Given the description of an element on the screen output the (x, y) to click on. 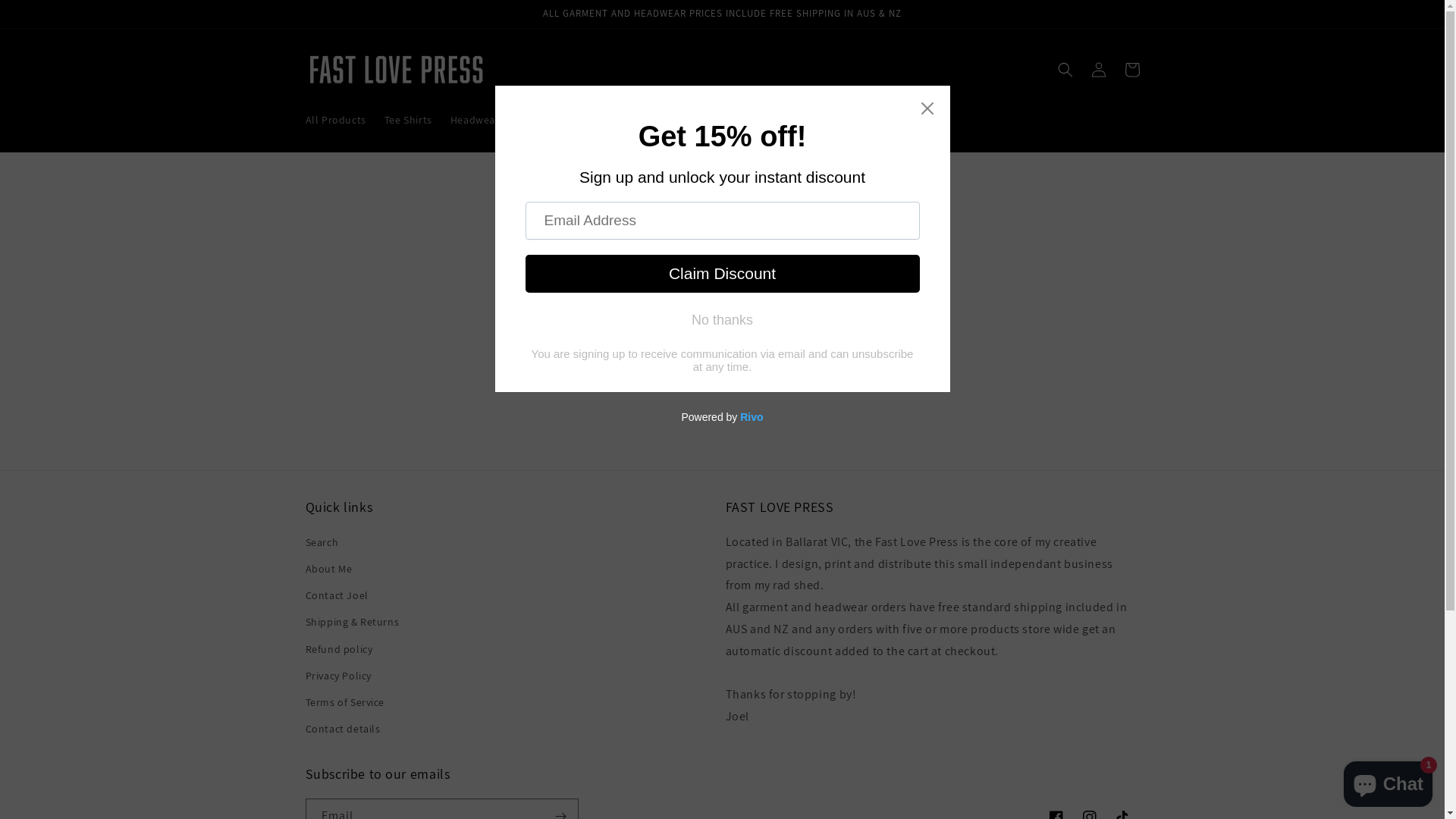
Log in Element type: text (1097, 69)
Contact Joel Element type: text (335, 595)
Tee Shirts Element type: text (408, 119)
Cart Element type: text (1131, 69)
Search Element type: text (321, 544)
Terms of Service Element type: text (344, 702)
Pins, Patches & Accessories Element type: text (583, 119)
Shipping & Returns Element type: text (351, 621)
Outlet Element type: text (856, 119)
Continue shopping Element type: text (722, 361)
Shopify online store chat Element type: hover (1388, 780)
Headwear Element type: text (474, 119)
Art Element type: text (896, 119)
All Products Element type: text (334, 119)
Contact details Element type: text (341, 728)
Refund policy Element type: text (338, 649)
About Me Element type: text (327, 568)
We're Not Here To Fuck Spiders Element type: text (745, 119)
Privacy Policy Element type: text (337, 675)
